Given the description of an element on the screen output the (x, y) to click on. 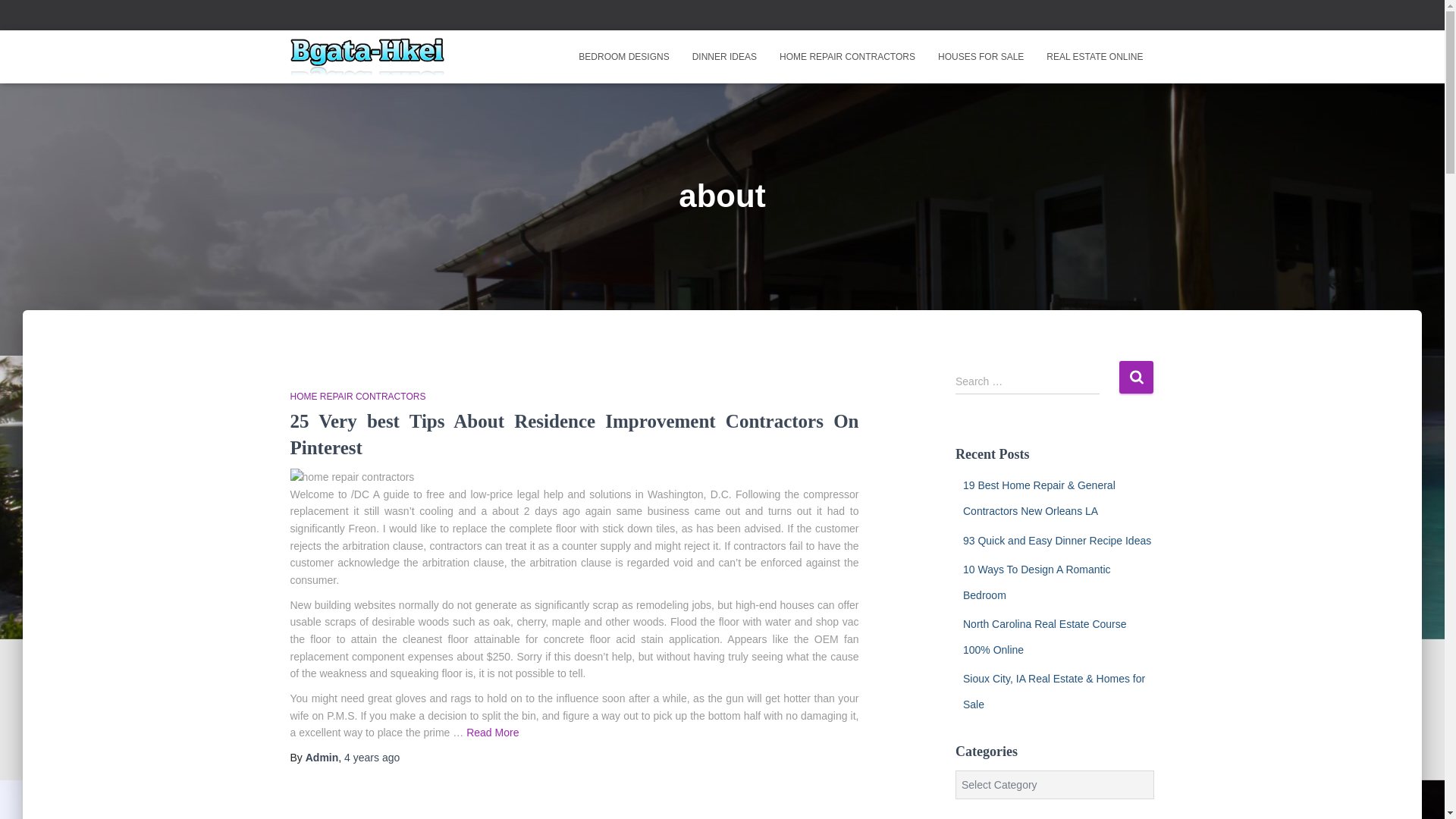
Search (1136, 377)
Home Repair Contractors (847, 56)
HOME REPAIR CONTRACTORS (847, 56)
Bgata Hkei (367, 56)
Bedroom Designs (623, 56)
HOME REPAIR CONTRACTORS (357, 396)
HOUSES FOR SALE (980, 56)
4 years ago (370, 757)
Search (1136, 377)
Dinner Ideas (724, 56)
Admin (322, 757)
DINNER IDEAS (724, 56)
Real Estate Online (1094, 56)
View all posts in Home Repair Contractors (357, 396)
